Given the description of an element on the screen output the (x, y) to click on. 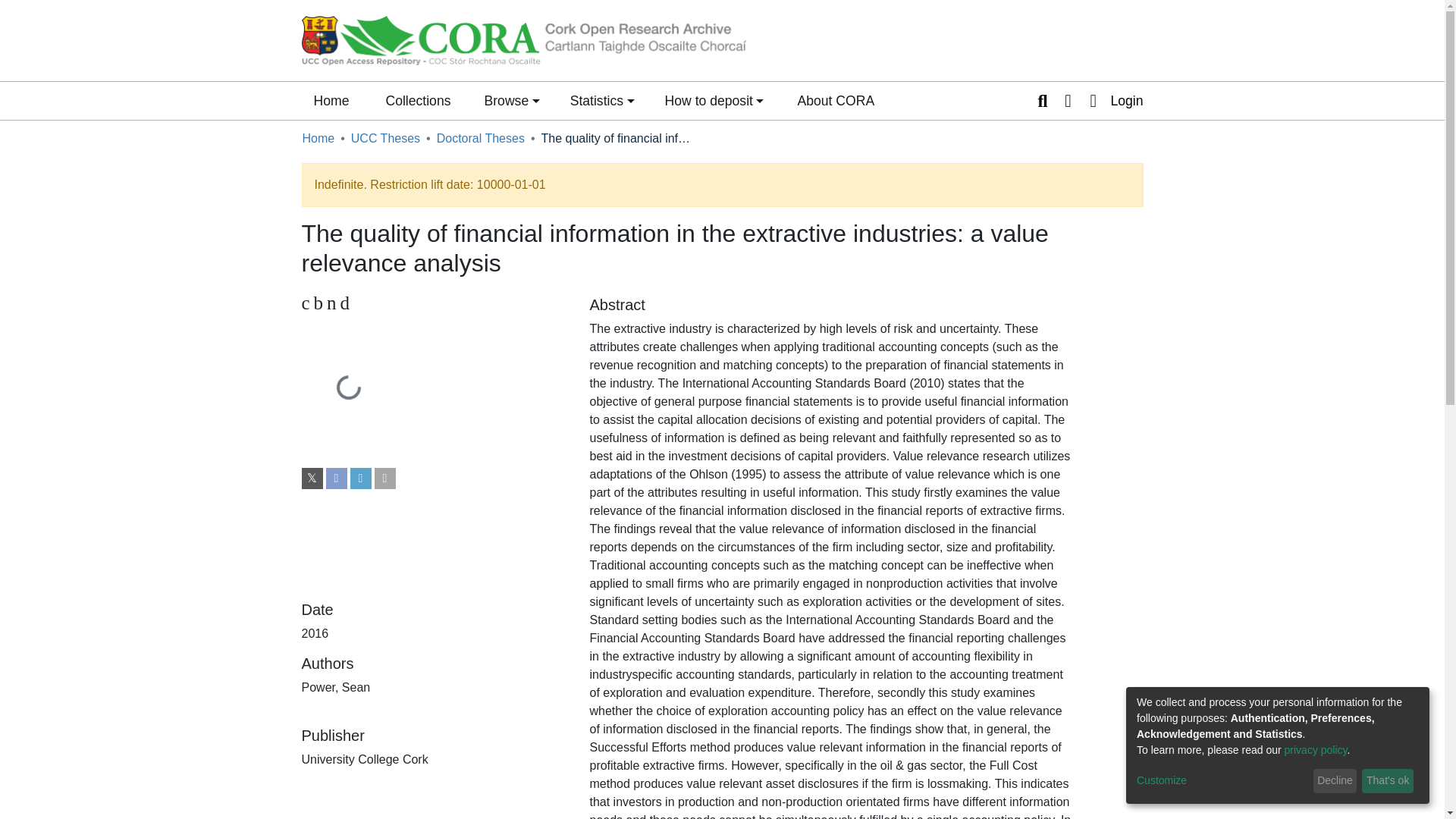
Home (317, 138)
Collections (417, 100)
Collections (417, 100)
Search (1041, 100)
Browse (510, 100)
UCC Theses (385, 138)
How to deposit (714, 100)
Customize (1222, 780)
About CORA (835, 100)
Language switch (1067, 100)
Login (1111, 100)
Home (331, 100)
privacy policy (1316, 749)
Decline (434, 303)
